Given the description of an element on the screen output the (x, y) to click on. 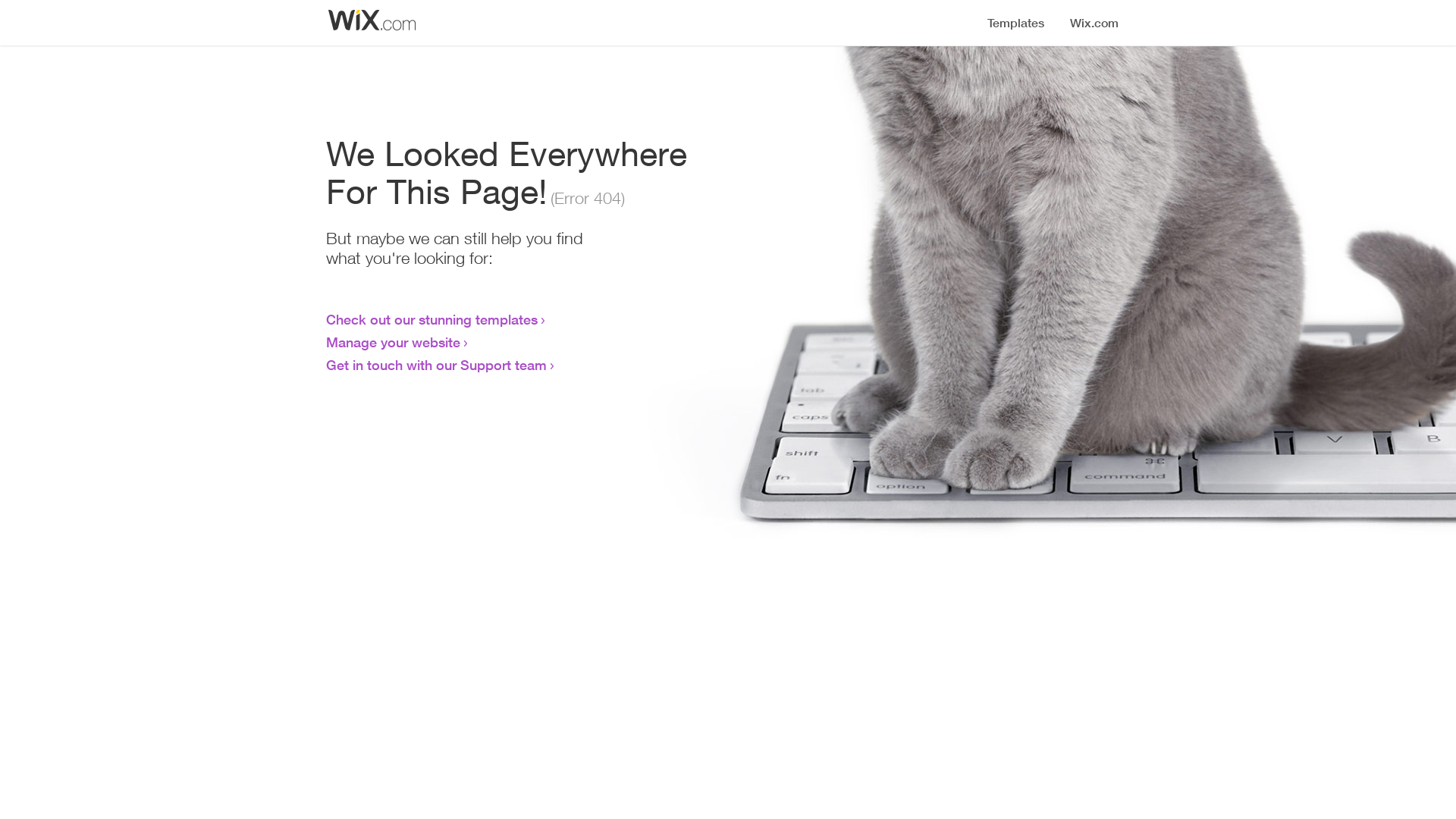
Check out our stunning templates Element type: text (431, 318)
Manage your website Element type: text (393, 341)
Get in touch with our Support team Element type: text (436, 364)
